Given the description of an element on the screen output the (x, y) to click on. 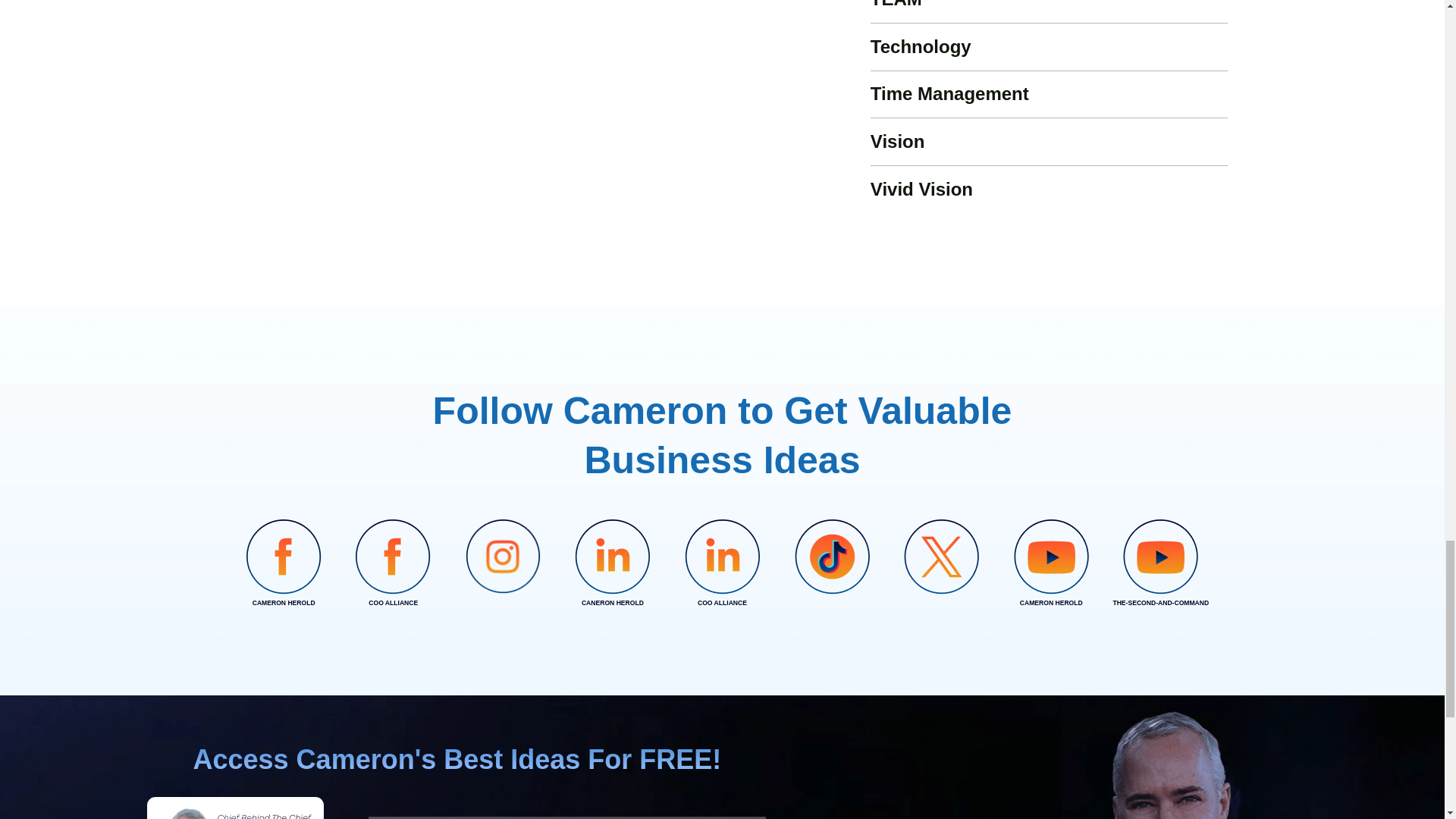
TEAM (895, 4)
Vivid Vision (921, 189)
Technology (920, 46)
Vision (897, 141)
Time Management (949, 93)
